Given the description of an element on the screen output the (x, y) to click on. 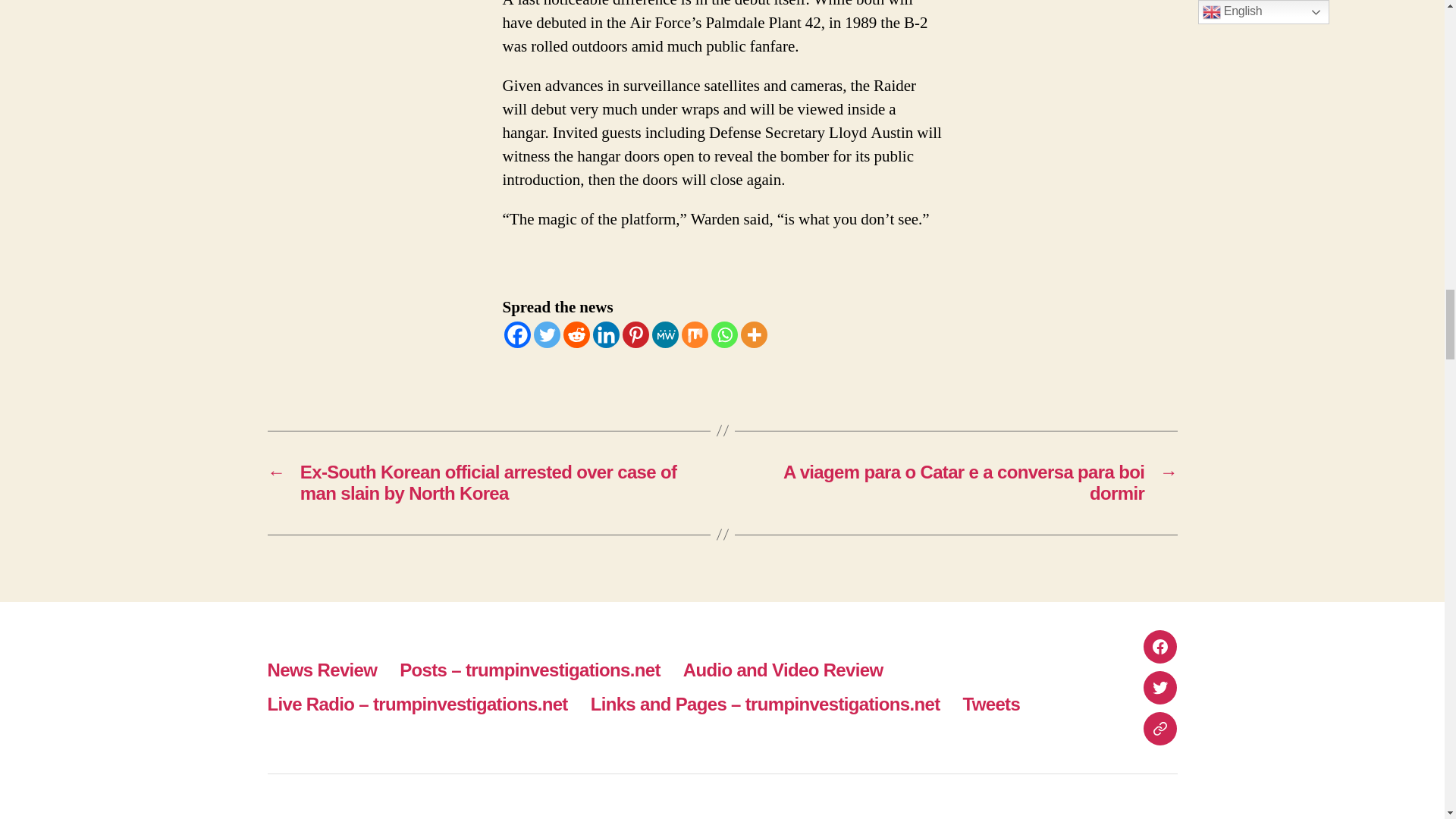
Facebook (516, 334)
Linkedin (606, 334)
Twitter (547, 334)
Pinterest (634, 334)
Mix (694, 334)
Whatsapp (724, 334)
Reddit (575, 334)
MeWe (665, 334)
